Given the description of an element on the screen output the (x, y) to click on. 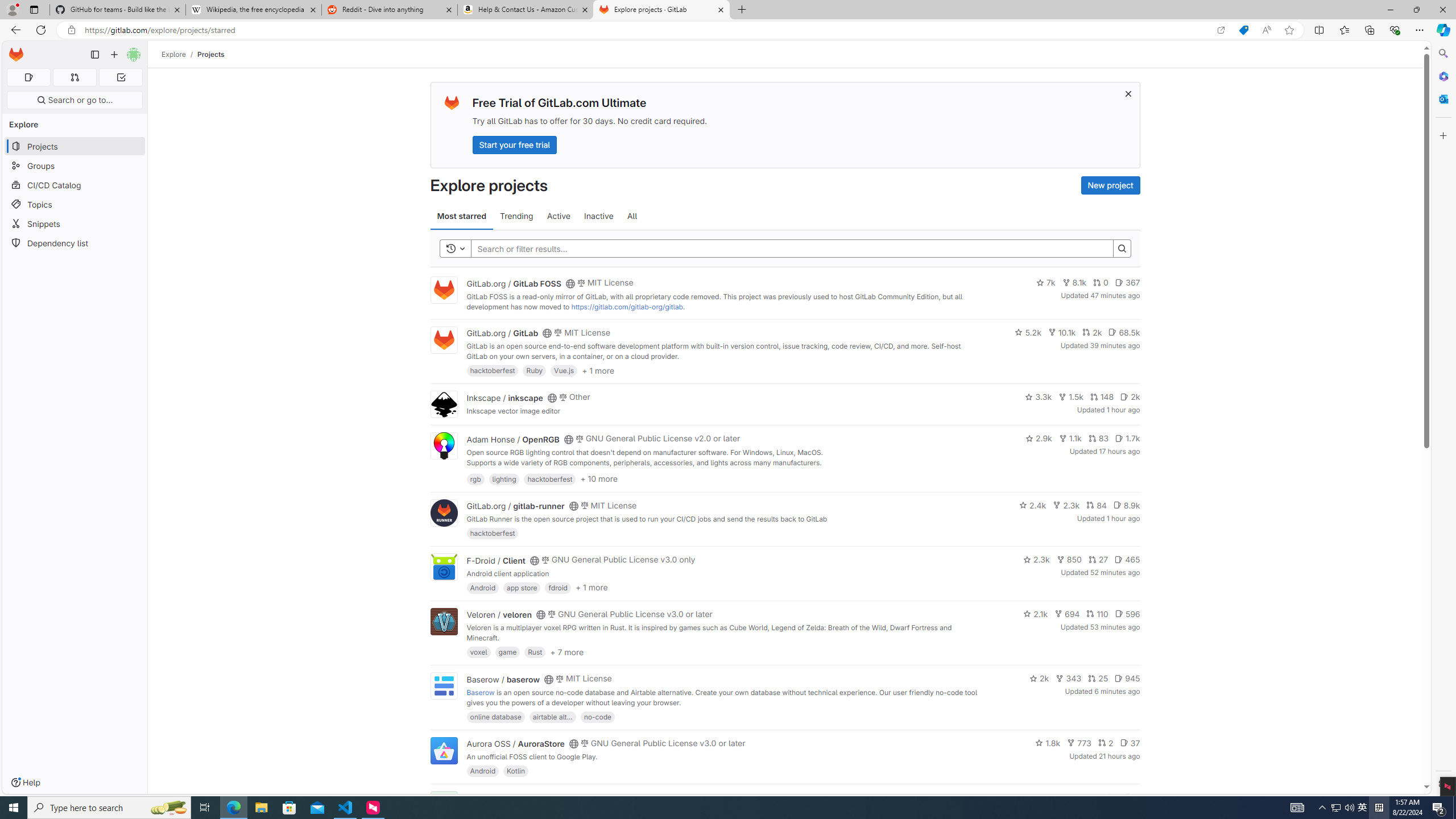
Baserow (480, 691)
To-Do list 0 (120, 76)
Groups (74, 165)
596 (1127, 613)
5.2k (1027, 331)
F-Droid / Client (495, 560)
